Given the description of an element on the screen output the (x, y) to click on. 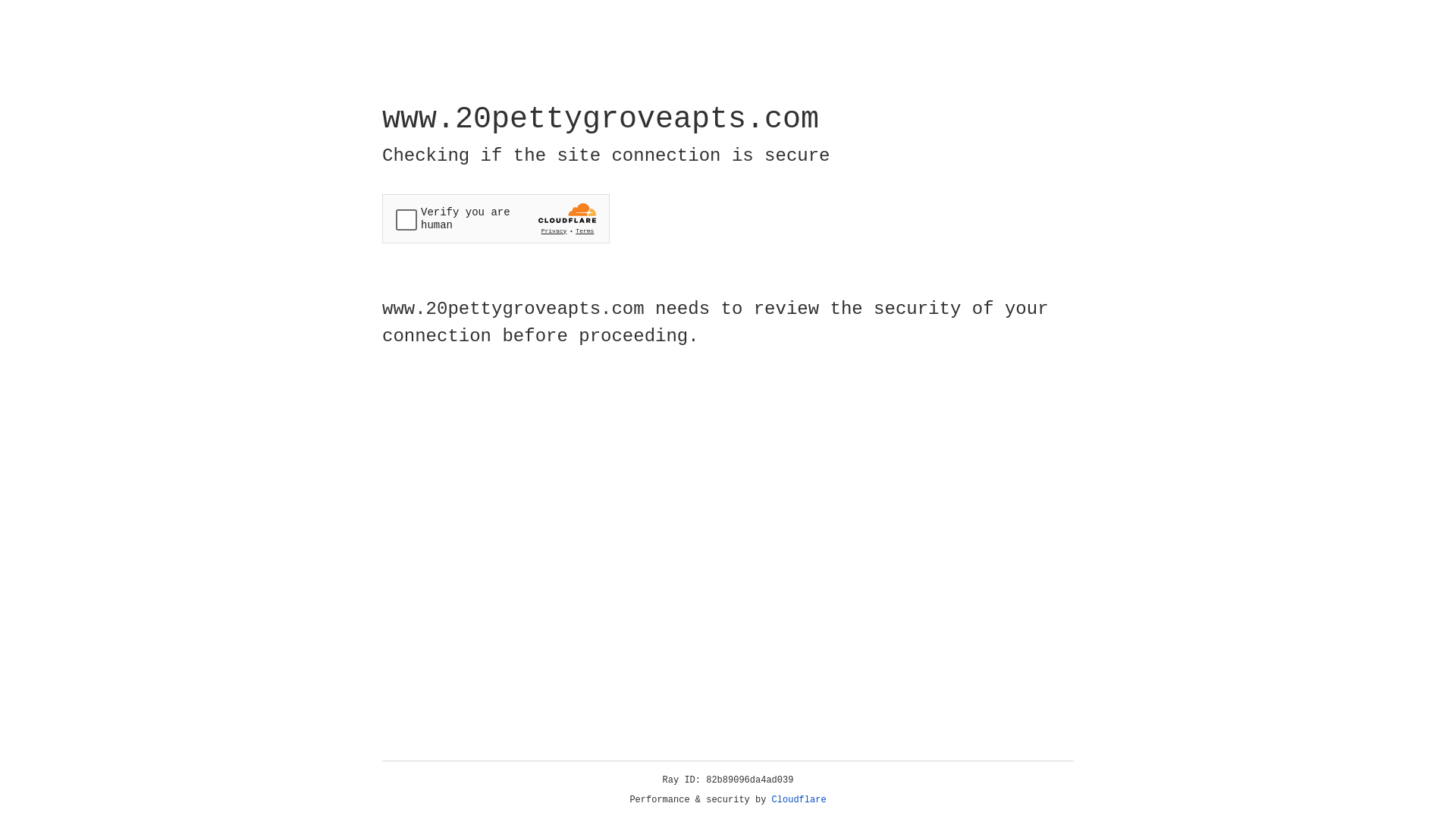
Cloudflare Element type: text (798, 799)
Widget containing a Cloudflare security challenge Element type: hover (495, 218)
